Given the description of an element on the screen output the (x, y) to click on. 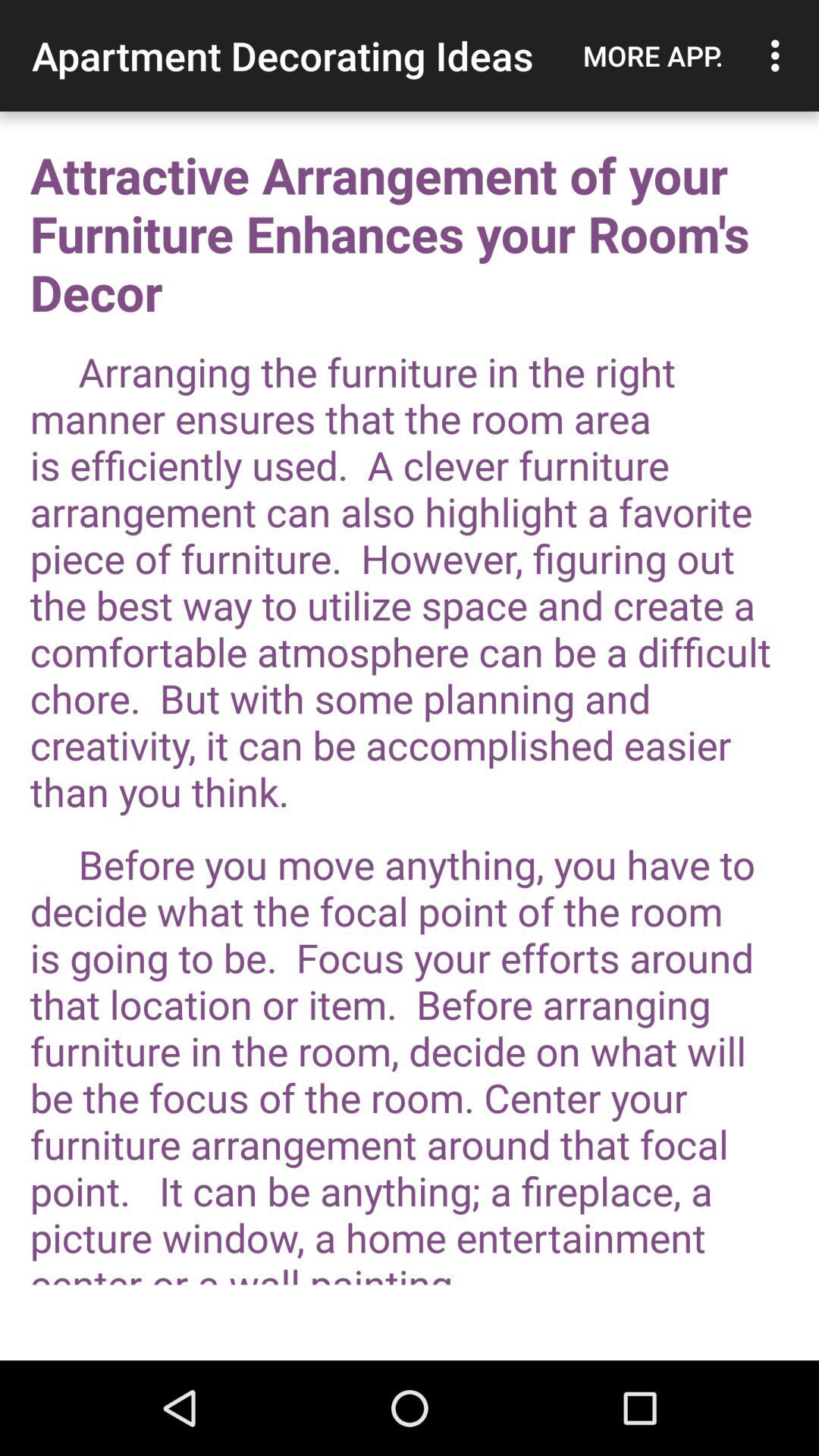
jump to the more app. icon (653, 55)
